Given the description of an element on the screen output the (x, y) to click on. 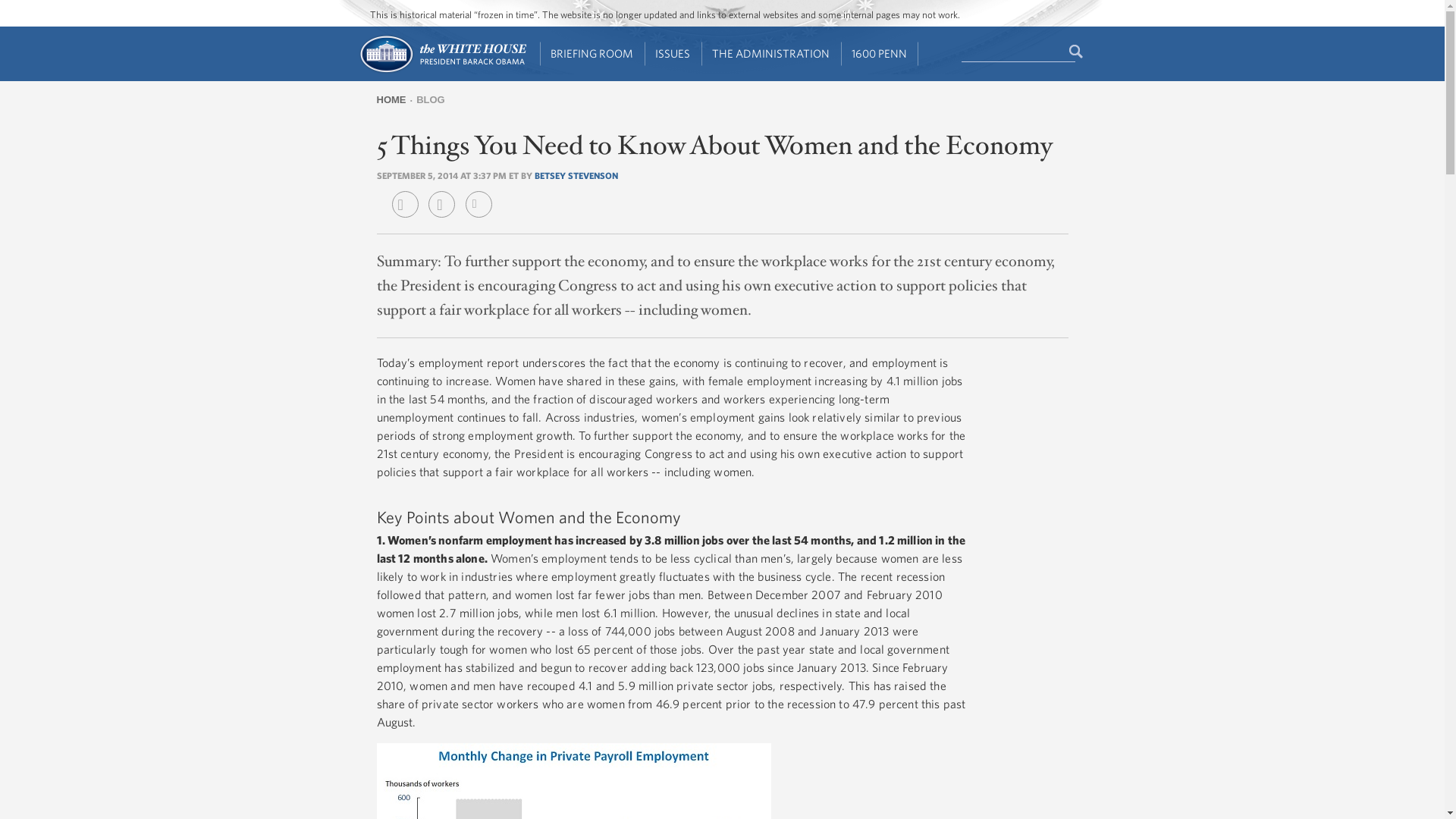
BRIEFING ROOM (592, 53)
Enter the terms you wish to search for. (1017, 52)
ISSUES (673, 53)
Home (441, 70)
Search (1076, 51)
